Given the description of an element on the screen output the (x, y) to click on. 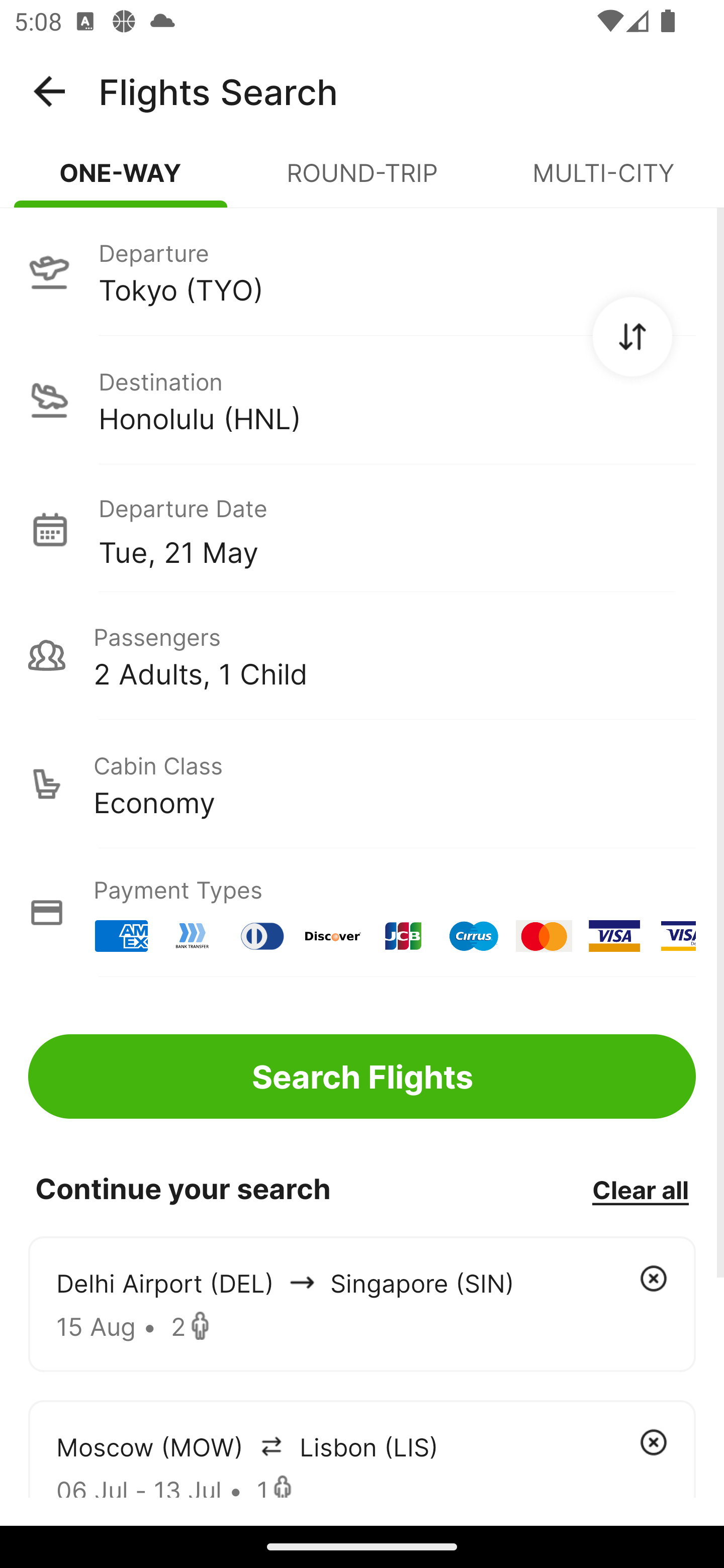
ONE-WAY (120, 180)
ROUND-TRIP (361, 180)
MULTI-CITY (603, 180)
Departure Tokyo (TYO) (362, 270)
Destination Honolulu (HNL) (362, 400)
Departure Date Tue, 21 May (396, 528)
Passengers 2 Adults, 1 Child (362, 655)
Cabin Class Economy (362, 783)
Payment Types (362, 912)
Search Flights (361, 1075)
Clear all (640, 1189)
